Given the description of an element on the screen output the (x, y) to click on. 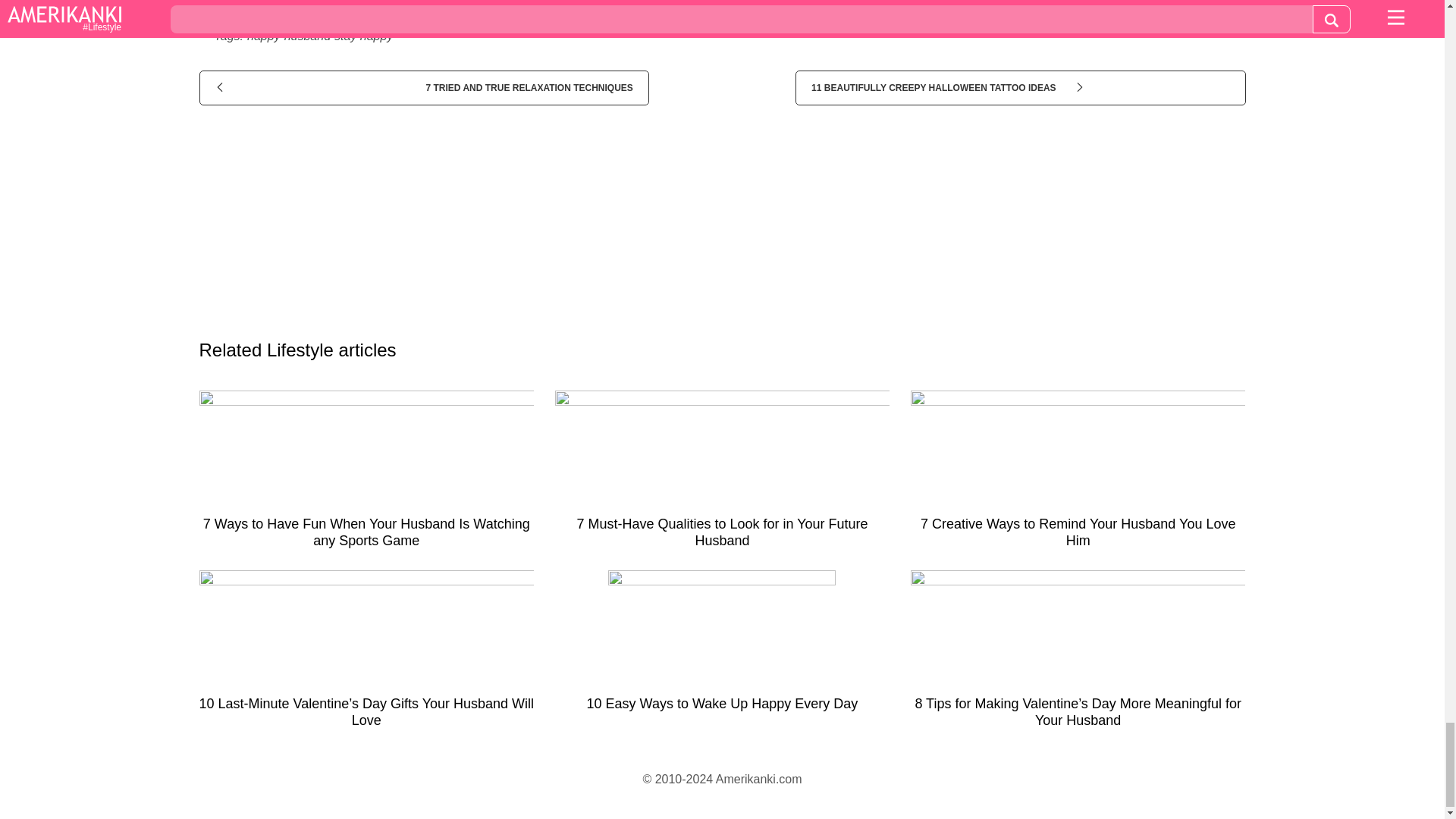
7 TRIED AND TRUE RELAXATION TECHNIQUES (422, 87)
Share on Facebook (381, 5)
11 Beautifully Creepy Halloween Tattoo Ideas (1019, 87)
11 BEAUTIFULLY CREEPY HALLOWEEN TATTOO IDEAS (1019, 87)
Share on Twitter (748, 5)
7 Tried and True Relaxation Techniques (422, 87)
7 Must-Have Qualities to Look for in Your Future Husband (721, 475)
